Given the description of an element on the screen output the (x, y) to click on. 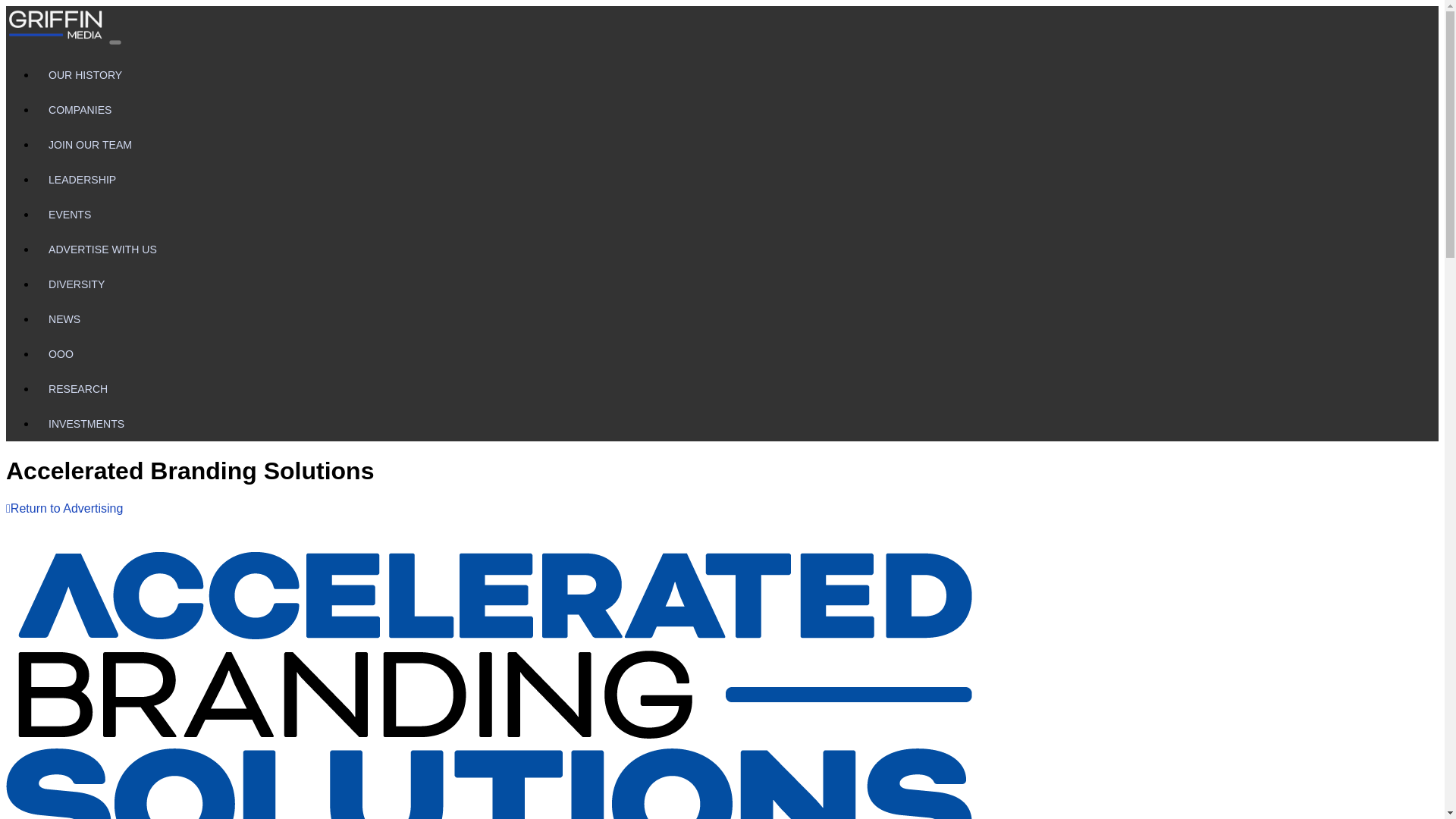
OOO (737, 353)
RESEARCH (737, 388)
COMPANIES (737, 109)
ADVERTISE WITH US (737, 248)
EVENTS (737, 214)
DIVERSITY (737, 284)
INVESTMENTS (737, 423)
JOIN OUR TEAM (737, 144)
LEADERSHIP (737, 179)
OUR HISTORY (737, 74)
NEWS (737, 319)
Return to Advertising (63, 508)
